Given the description of an element on the screen output the (x, y) to click on. 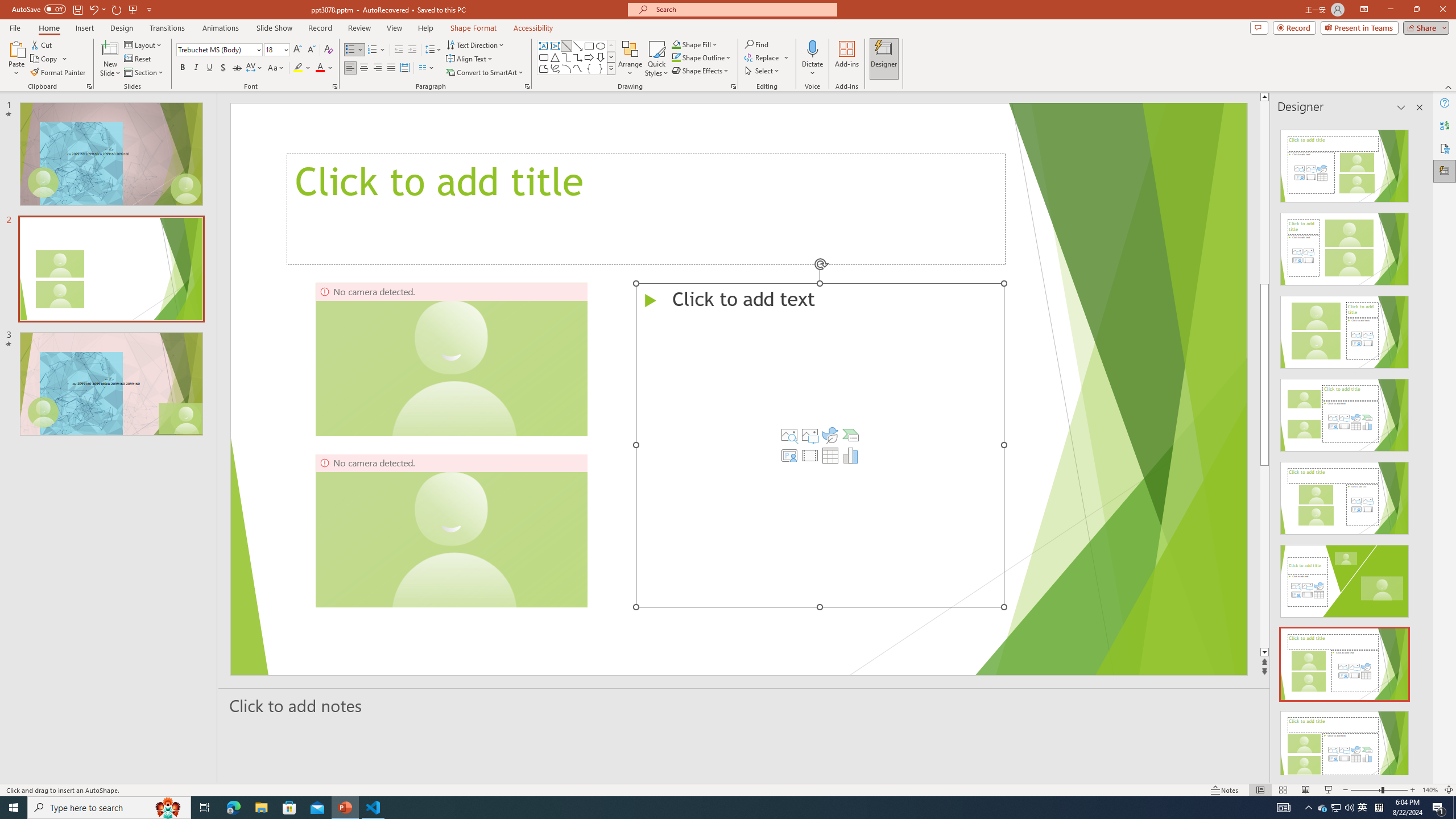
Align Text (470, 58)
Strikethrough (237, 67)
Clear Formatting (327, 49)
Format Painter (58, 72)
Title TextBox (646, 209)
Arrow: Down (600, 57)
Insert Table (830, 455)
Connector: Elbow Arrow (577, 57)
Align Right (377, 67)
